Given the description of an element on the screen output the (x, y) to click on. 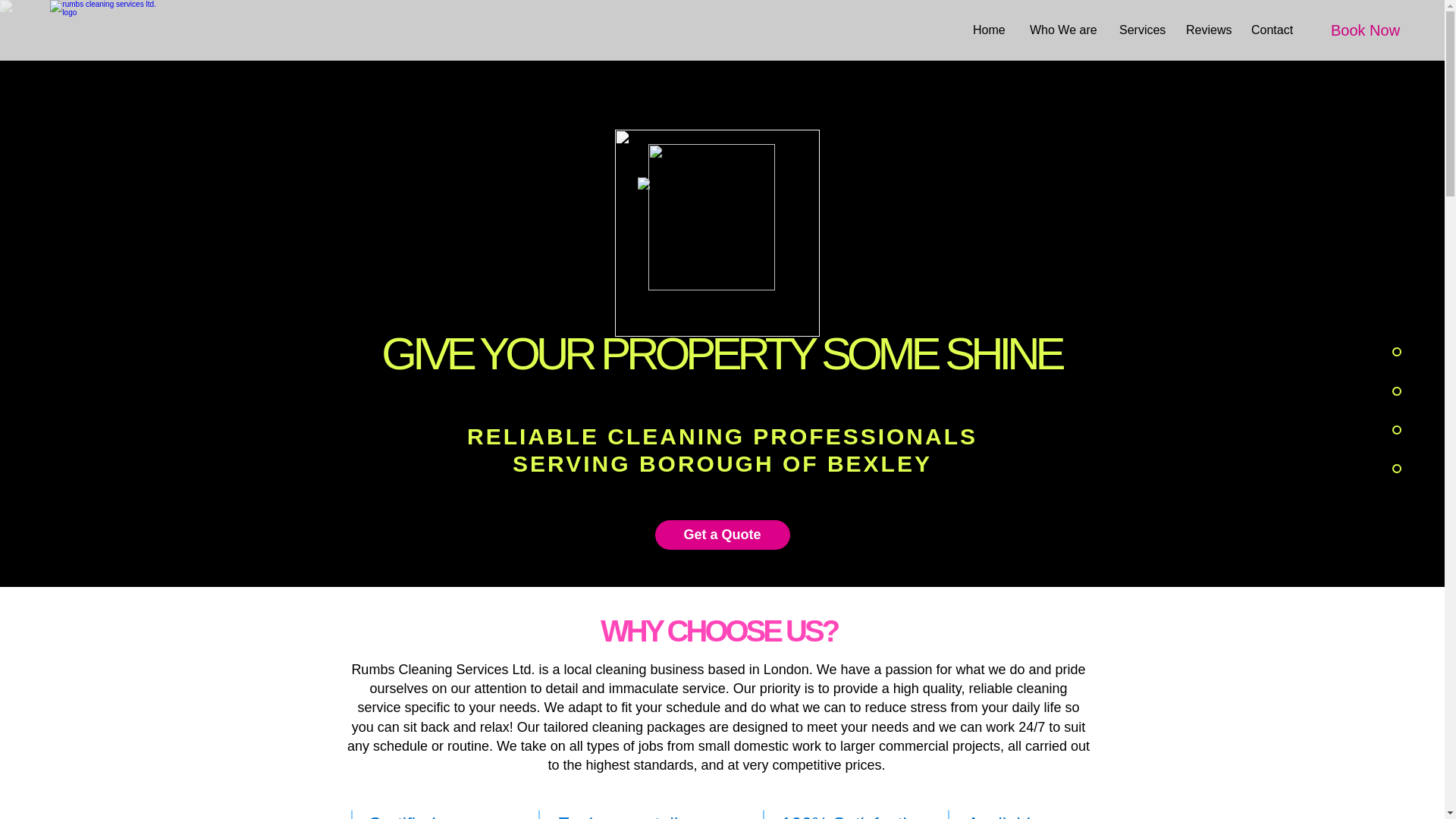
Book Now (1364, 30)
Reviews (1207, 30)
Contact (1272, 30)
Who We are (1062, 30)
RUMBS.png (721, 261)
Get a Quote (722, 534)
Home (988, 30)
Services (1141, 30)
